Given the description of an element on the screen output the (x, y) to click on. 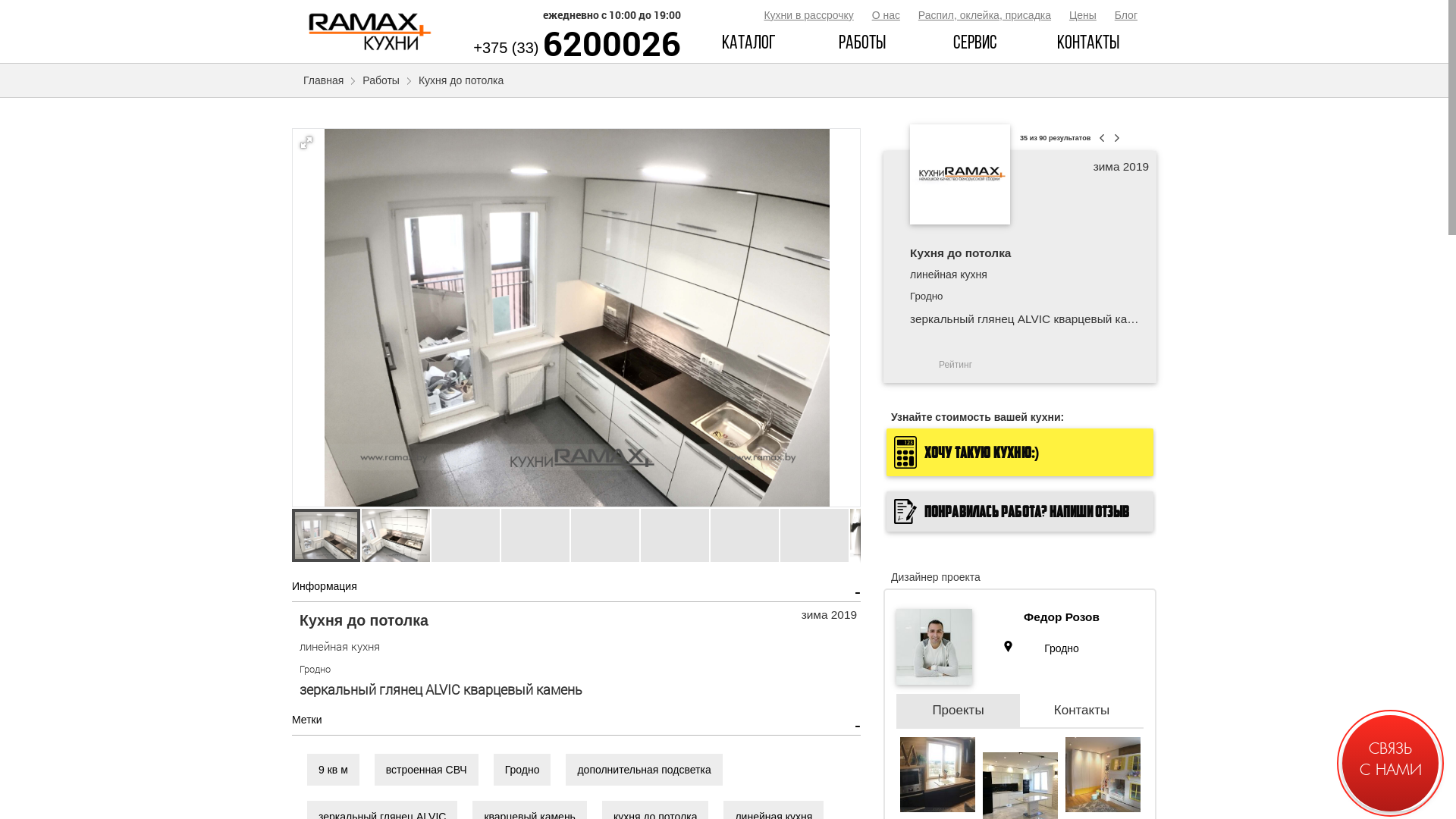
+375 (33) 6200026 Element type: text (576, 47)
BOSS Element type: text (1389, 741)
